Given the description of an element on the screen output the (x, y) to click on. 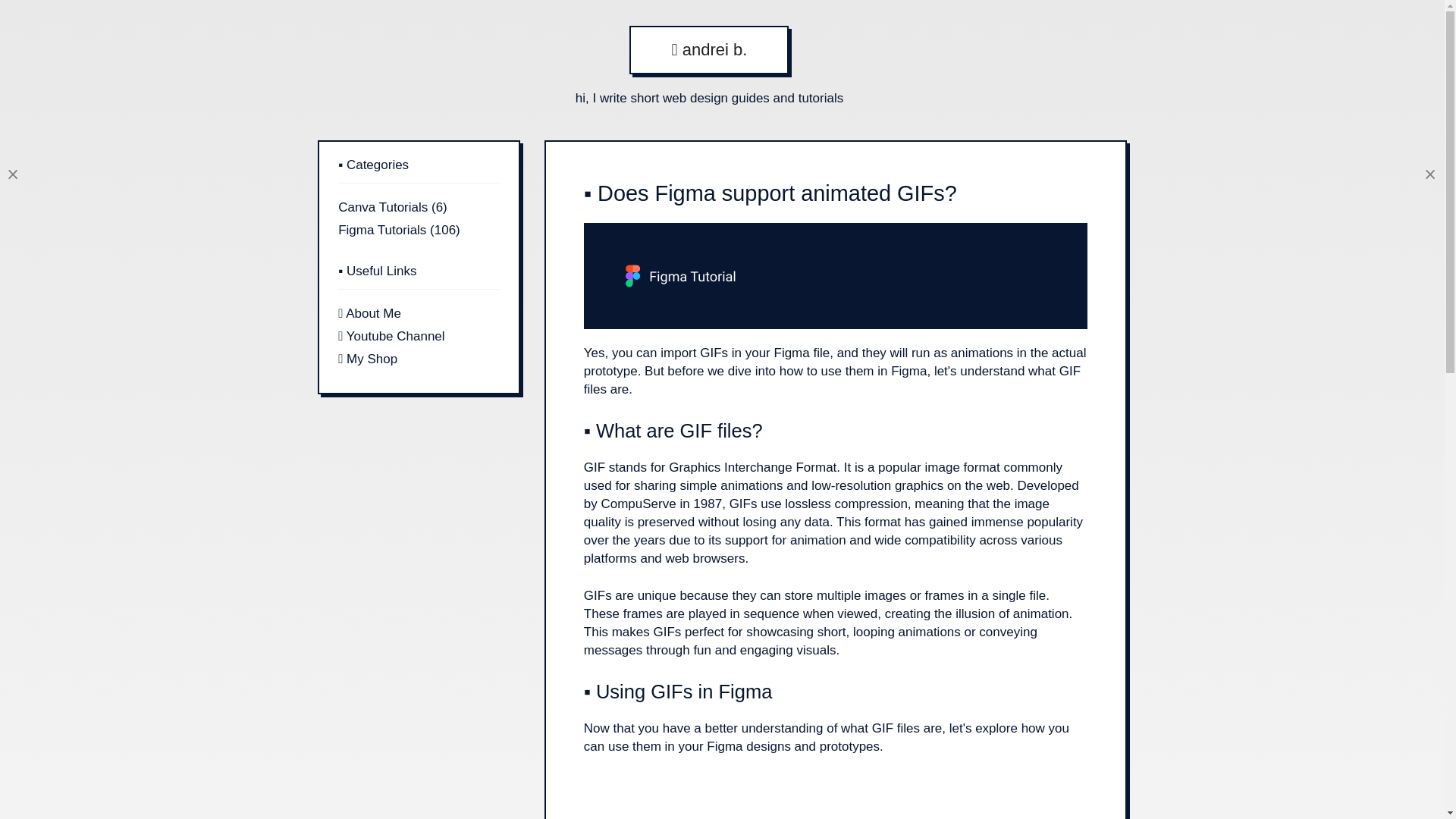
Does Figma support animated GIFs? (835, 230)
